Given the description of an element on the screen output the (x, y) to click on. 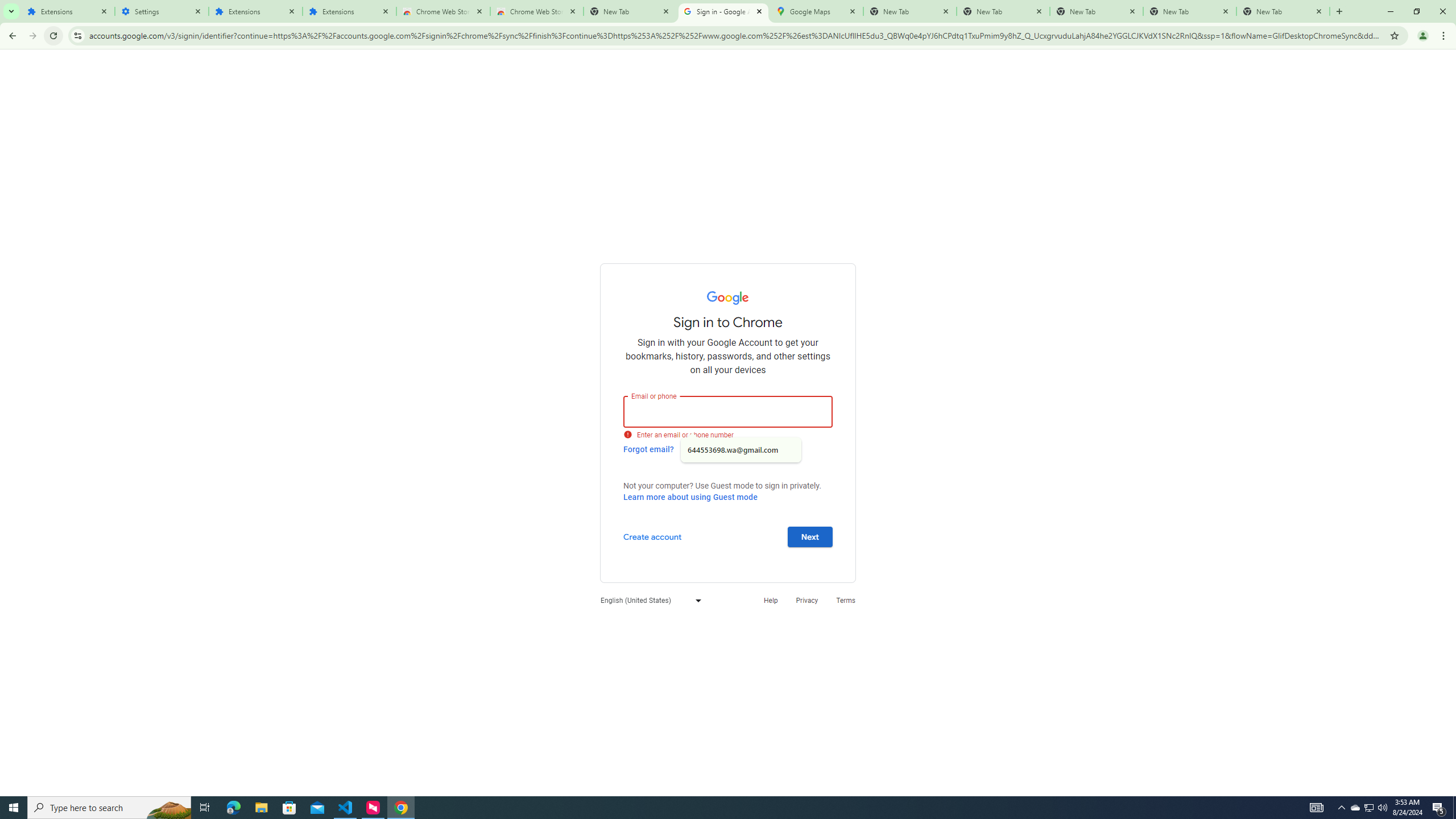
Forgot email? (648, 449)
Sign in - Google Accounts (722, 11)
Help (770, 600)
Reload (52, 35)
Bookmark this tab (1393, 35)
Create account (651, 536)
